Given the description of an element on the screen output the (x, y) to click on. 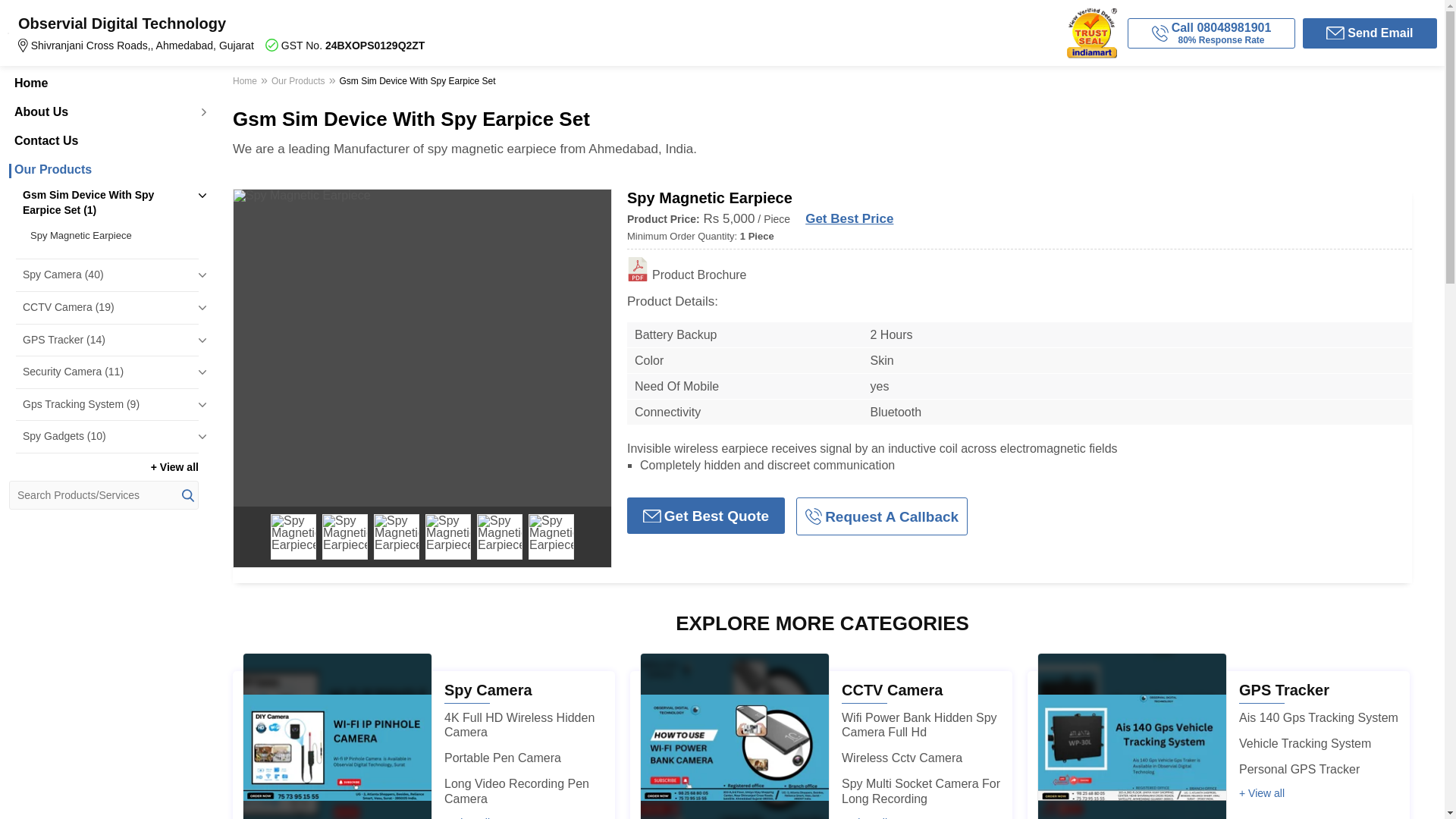
About Us (103, 111)
Our Products (103, 169)
Contact Us (103, 141)
Home (103, 82)
Spy Magnetic Earpiece (110, 235)
